Given the description of an element on the screen output the (x, y) to click on. 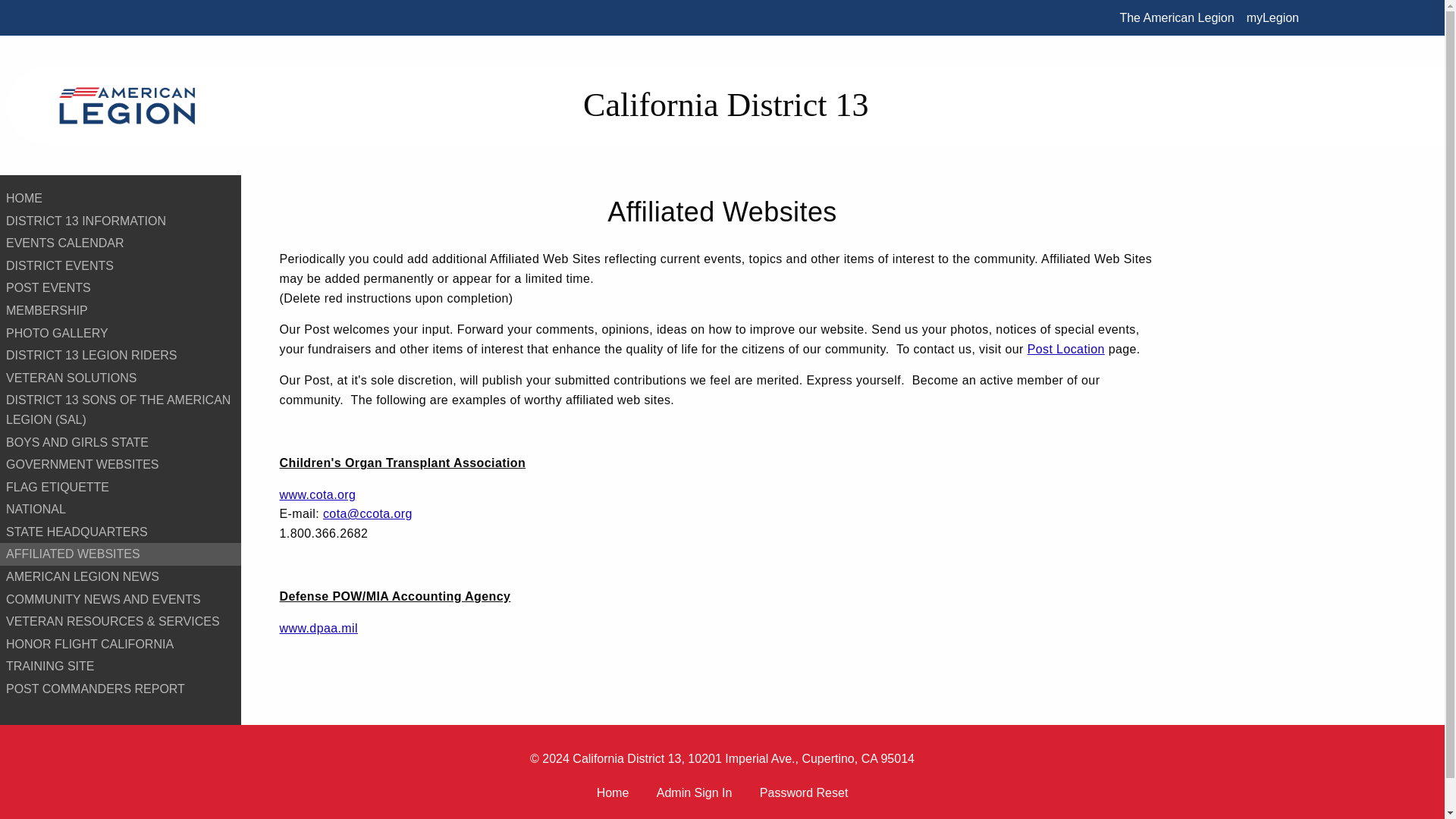
DISTRICT 13 LEGION RIDERS (120, 354)
POST COMMANDERS REPORT (120, 689)
STATE HEADQUARTERS (120, 531)
PHOTO GALLERY (120, 333)
myLegion.org (1272, 17)
AFFILIATED WEBSITES (120, 553)
The American Legion (1176, 17)
myLegion (1272, 17)
AMERICAN LEGION NEWS (120, 576)
GOVERNMENT WEBSITES (120, 464)
